Given the description of an element on the screen output the (x, y) to click on. 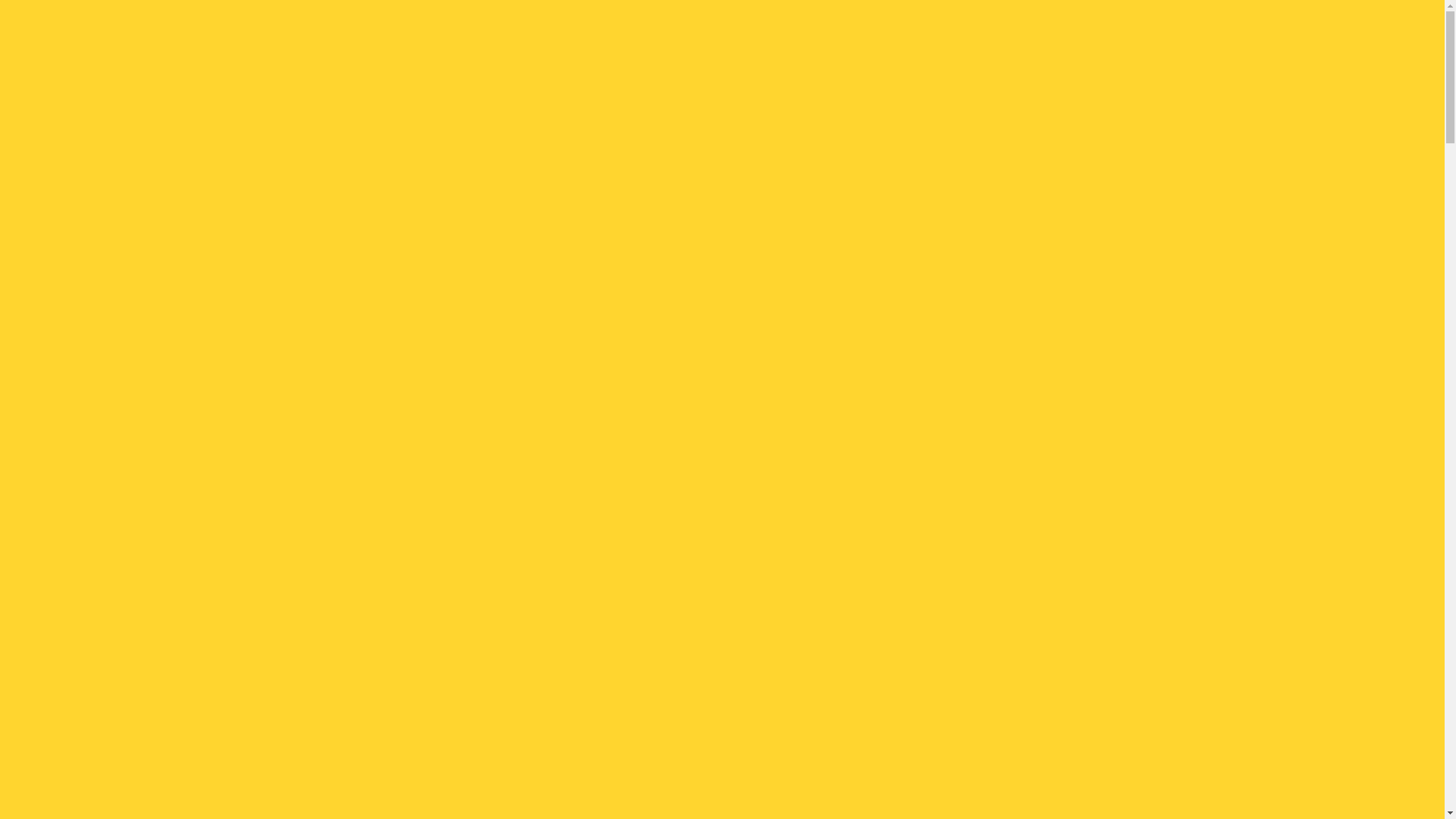
Skip to content Element type: text (0, 0)
Life:) Element type: text (313, 114)
01.03.2018 Element type: text (356, 444)
Advertisement Element type: hover (716, 315)
Advertisement Element type: hover (716, 318)
